Given the description of an element on the screen output the (x, y) to click on. 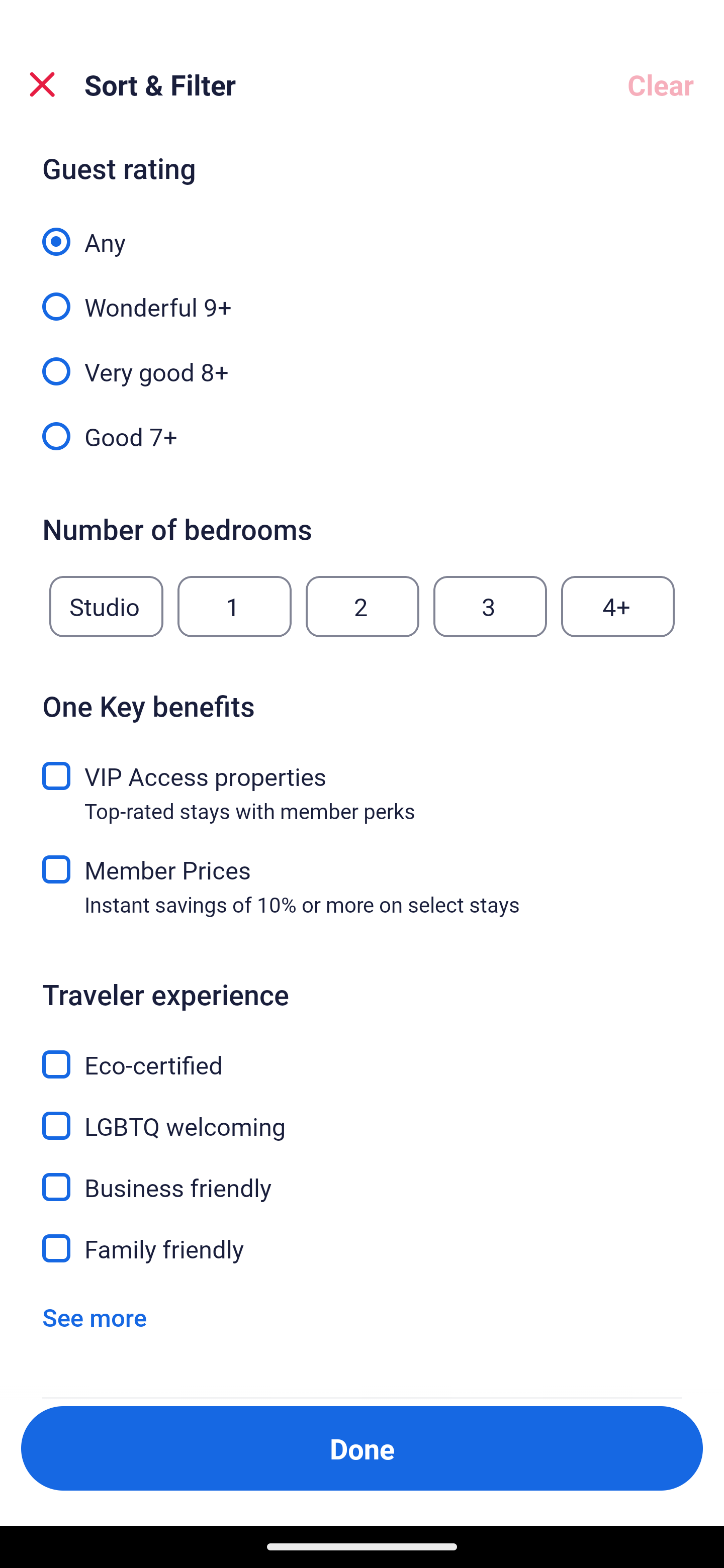
Close Sort and Filter (42, 84)
Clear (660, 84)
Wonderful 9+ (361, 295)
Very good 8+ (361, 360)
Good 7+ (361, 434)
Studio (106, 606)
1 (234, 606)
2 (362, 606)
3 (490, 606)
4+ (617, 606)
Eco-certified, Eco-certified (361, 1052)
LGBTQ welcoming, LGBTQ welcoming (361, 1113)
Business friendly, Business friendly (361, 1175)
Family friendly, Family friendly (361, 1248)
See more See more traveler experience options Link (93, 1316)
Apply and close Sort and Filter Done (361, 1448)
